Given the description of an element on the screen output the (x, y) to click on. 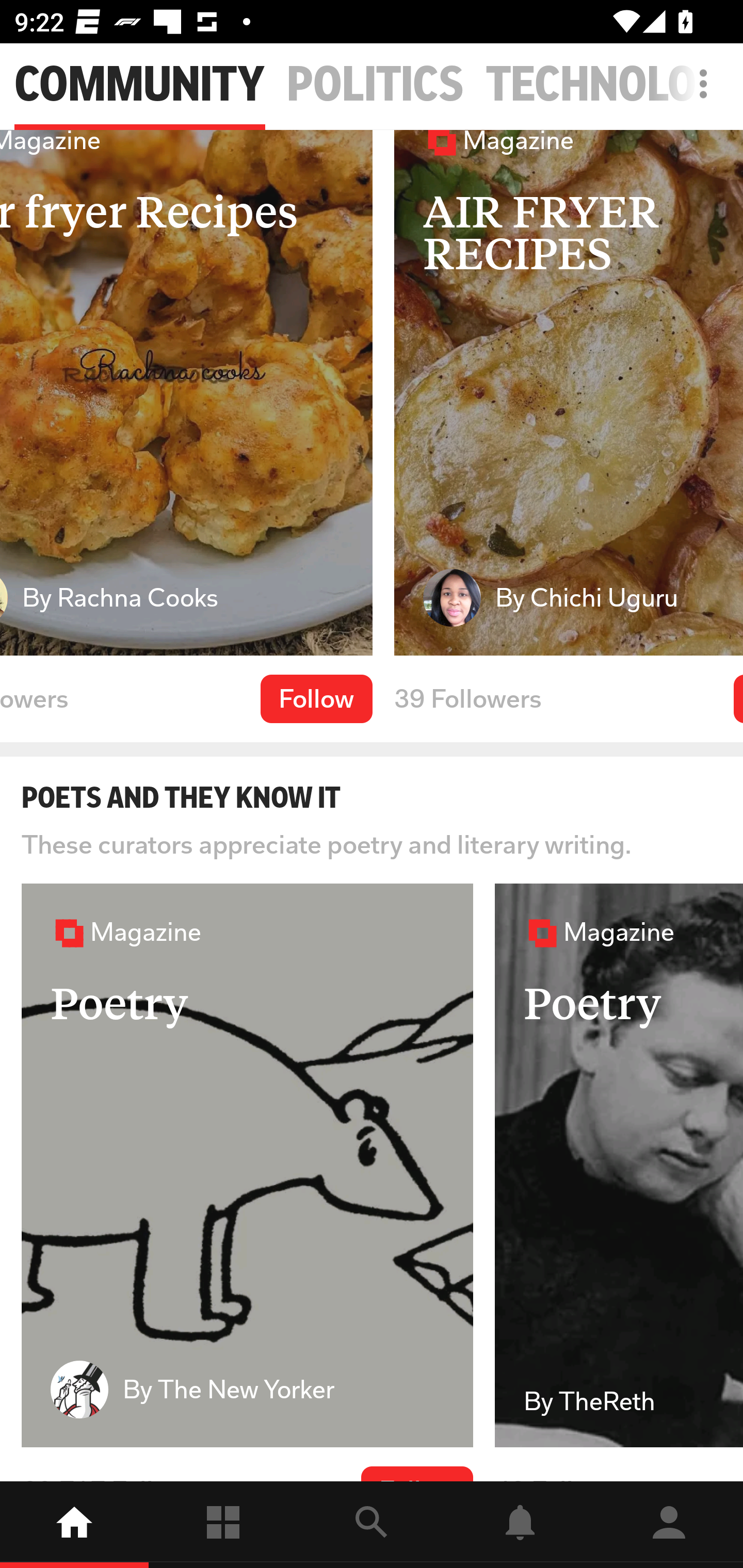
COMMUNITY (139, 84)
POLITICS (375, 84)
TECHNOLOGY (614, 84)
Edit Home (697, 83)
Follow (316, 698)
home (74, 1524)
Following (222, 1524)
explore (371, 1524)
Notifications (519, 1524)
Profile (668, 1524)
